Given the description of an element on the screen output the (x, y) to click on. 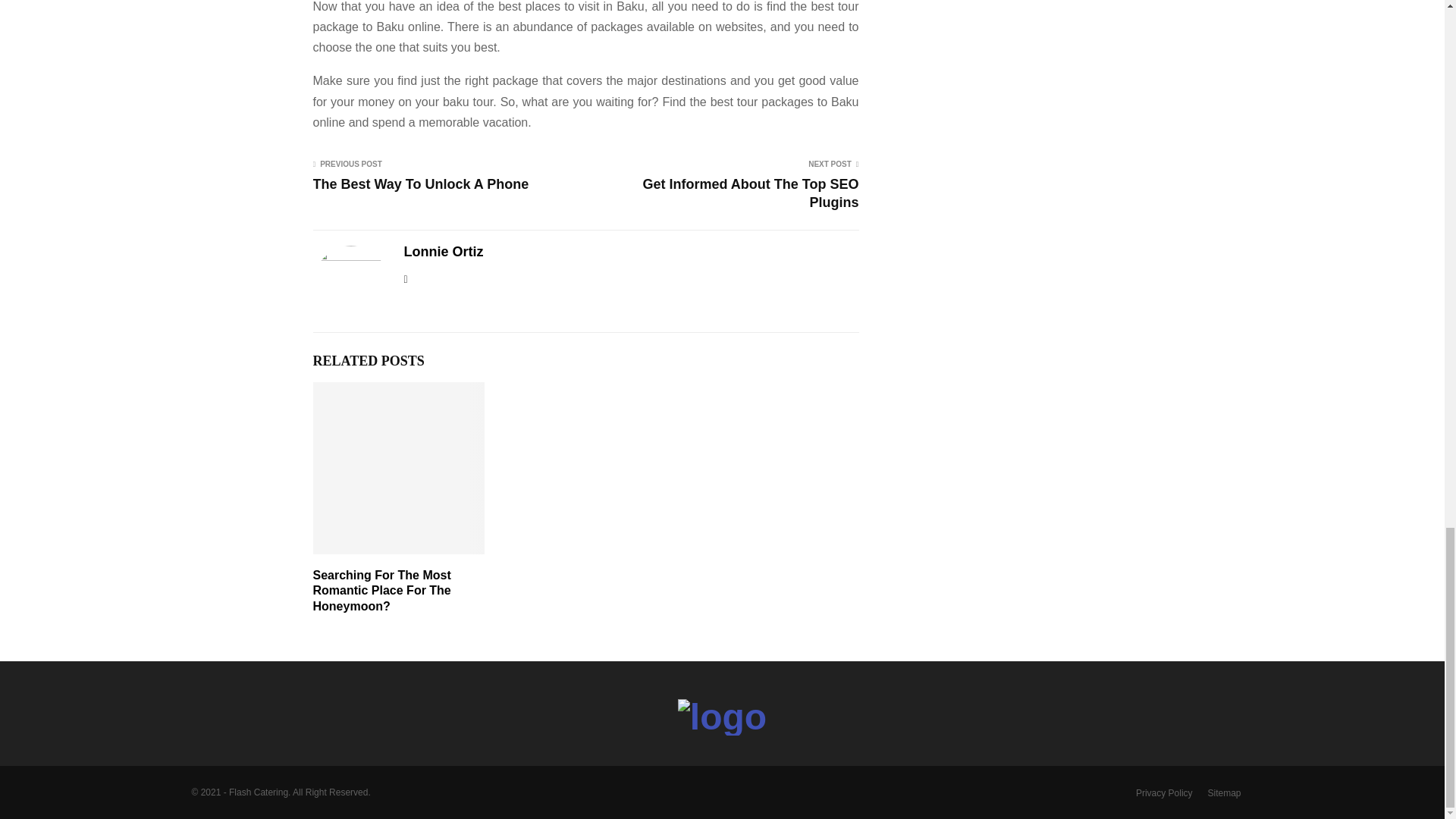
Get Informed About The Top SEO Plugins (751, 192)
The Best Way To Unlock A Phone (420, 183)
Searching For The Most Romantic Place For The Honeymoon? (381, 590)
Posts by Lonnie Ortiz (443, 252)
Lonnie Ortiz (443, 252)
